Given the description of an element on the screen output the (x, y) to click on. 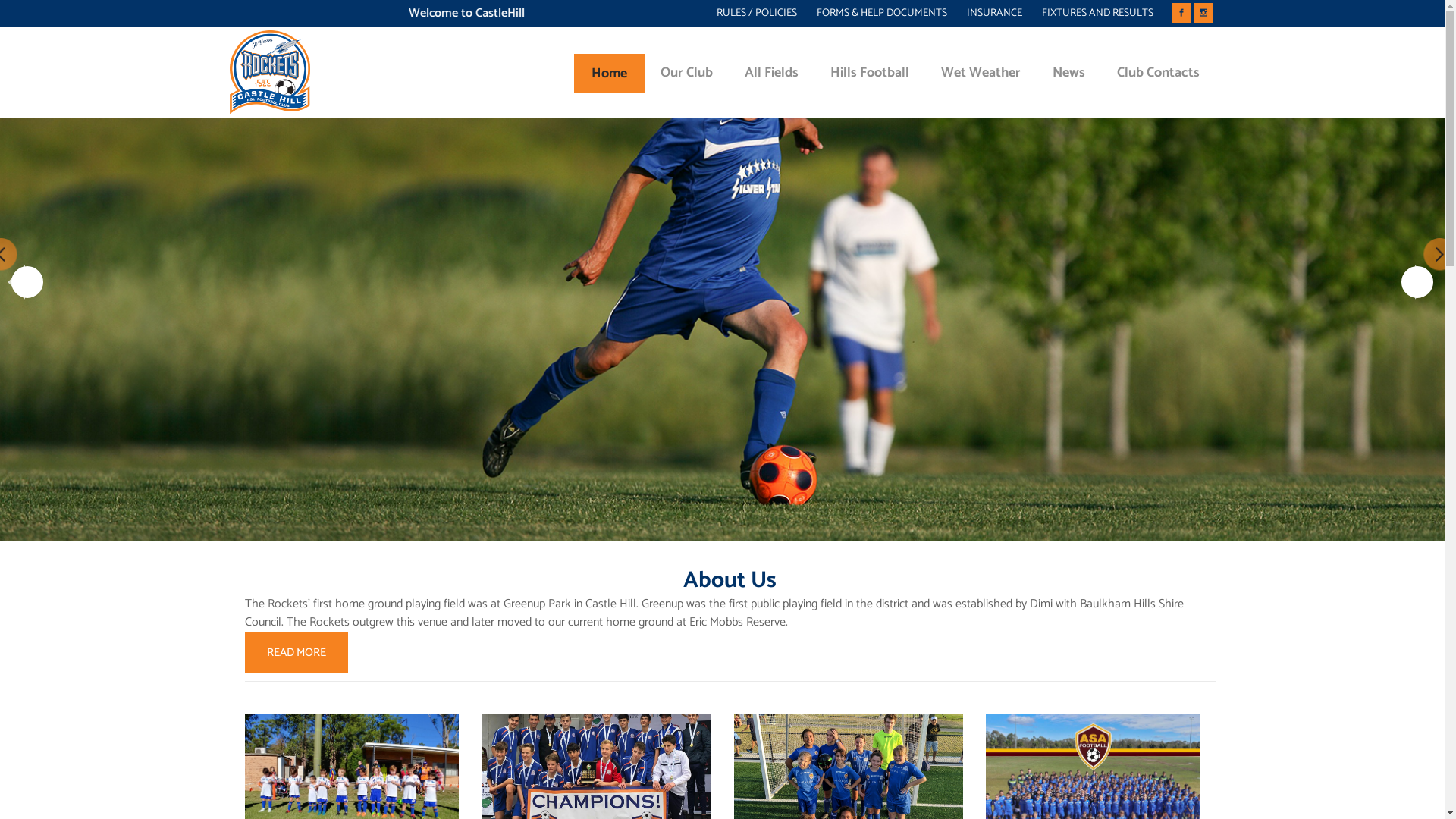
Wet Weather Element type: text (980, 72)
READ MORE Element type: text (295, 652)
RULES / POLICIES Element type: text (746, 13)
All Fields Element type: text (770, 72)
News Element type: text (1067, 72)
FIXTURES AND RESULTS Element type: text (1087, 13)
Home Element type: text (608, 72)
Our Club Element type: text (686, 72)
INSURANCE Element type: text (983, 13)
Club Contacts Element type: text (1158, 72)
FORMS & HELP DOCUMENTS Element type: text (871, 13)
Hills Football Element type: text (869, 72)
